Given the description of an element on the screen output the (x, y) to click on. 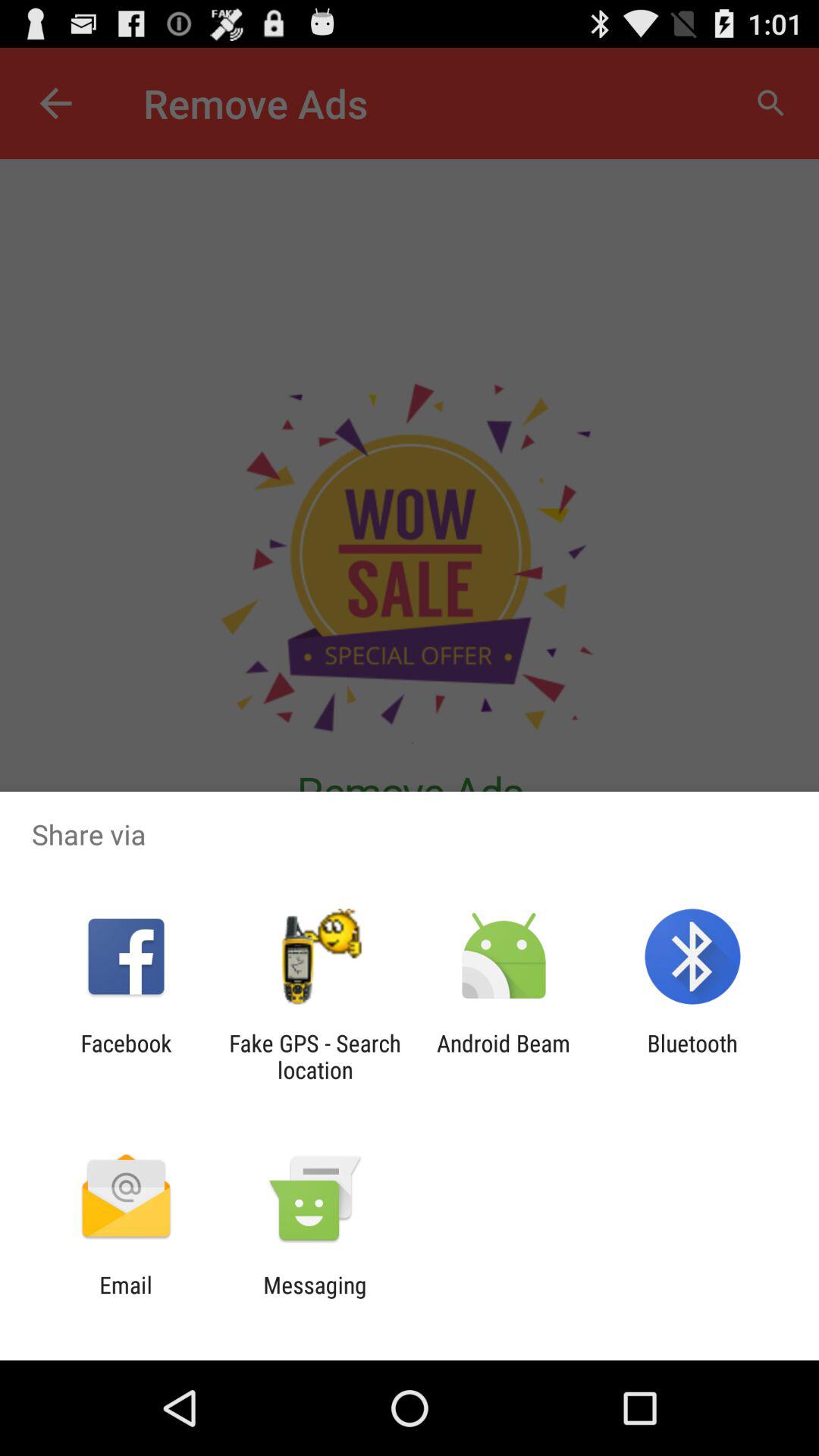
turn off the item to the left of messaging app (125, 1298)
